Given the description of an element on the screen output the (x, y) to click on. 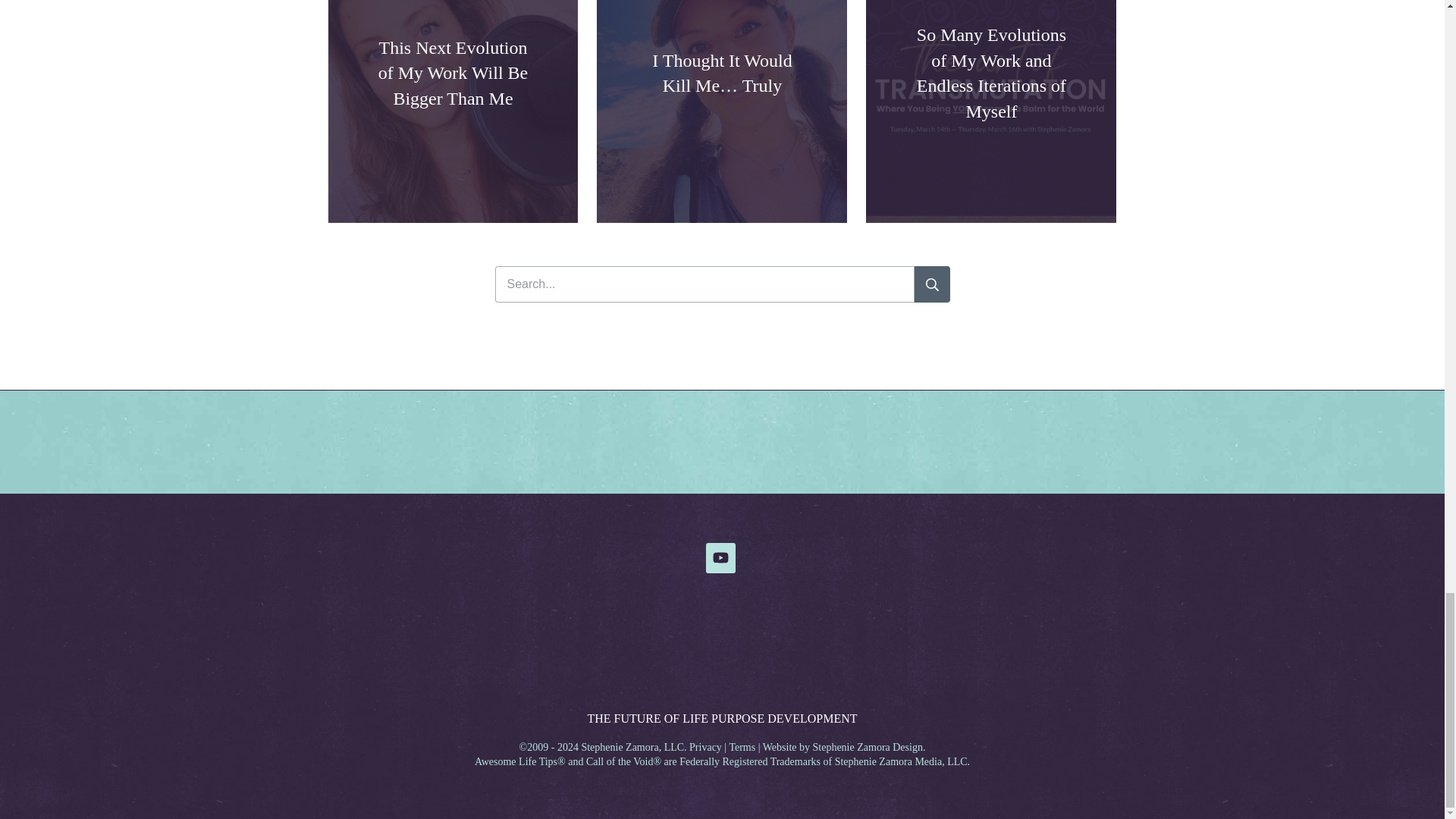
blue-desert (722, 379)
This Next Evolution of My Work Will Be Bigger Than Me (453, 72)
